Given the description of an element on the screen output the (x, y) to click on. 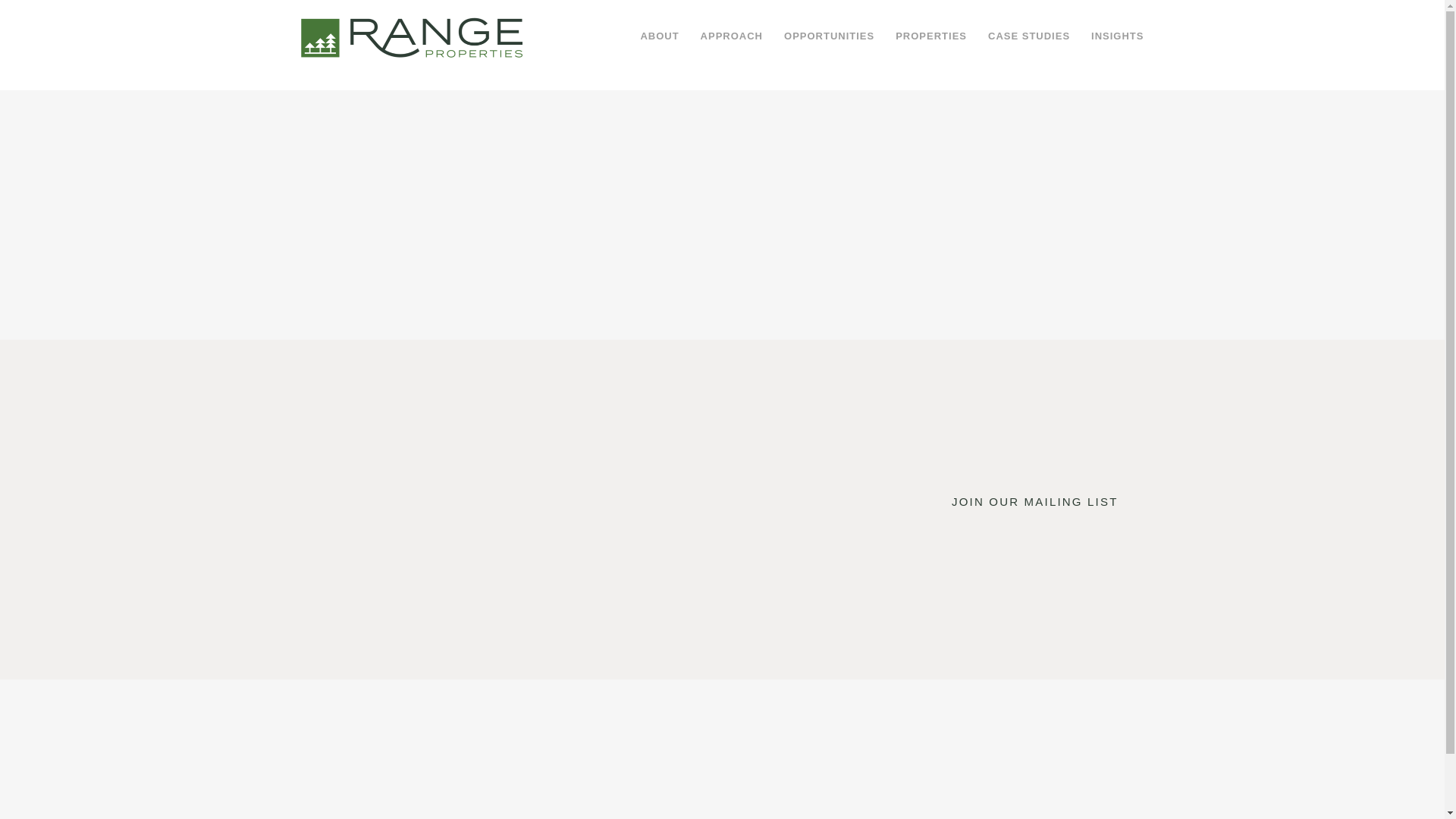
CASE STUDIES (1028, 36)
OPPORTUNITIES (829, 36)
APPROACH (731, 36)
PROPERTIES (930, 36)
ABOUT (658, 36)
INSIGHTS (1117, 36)
